Given the description of an element on the screen output the (x, y) to click on. 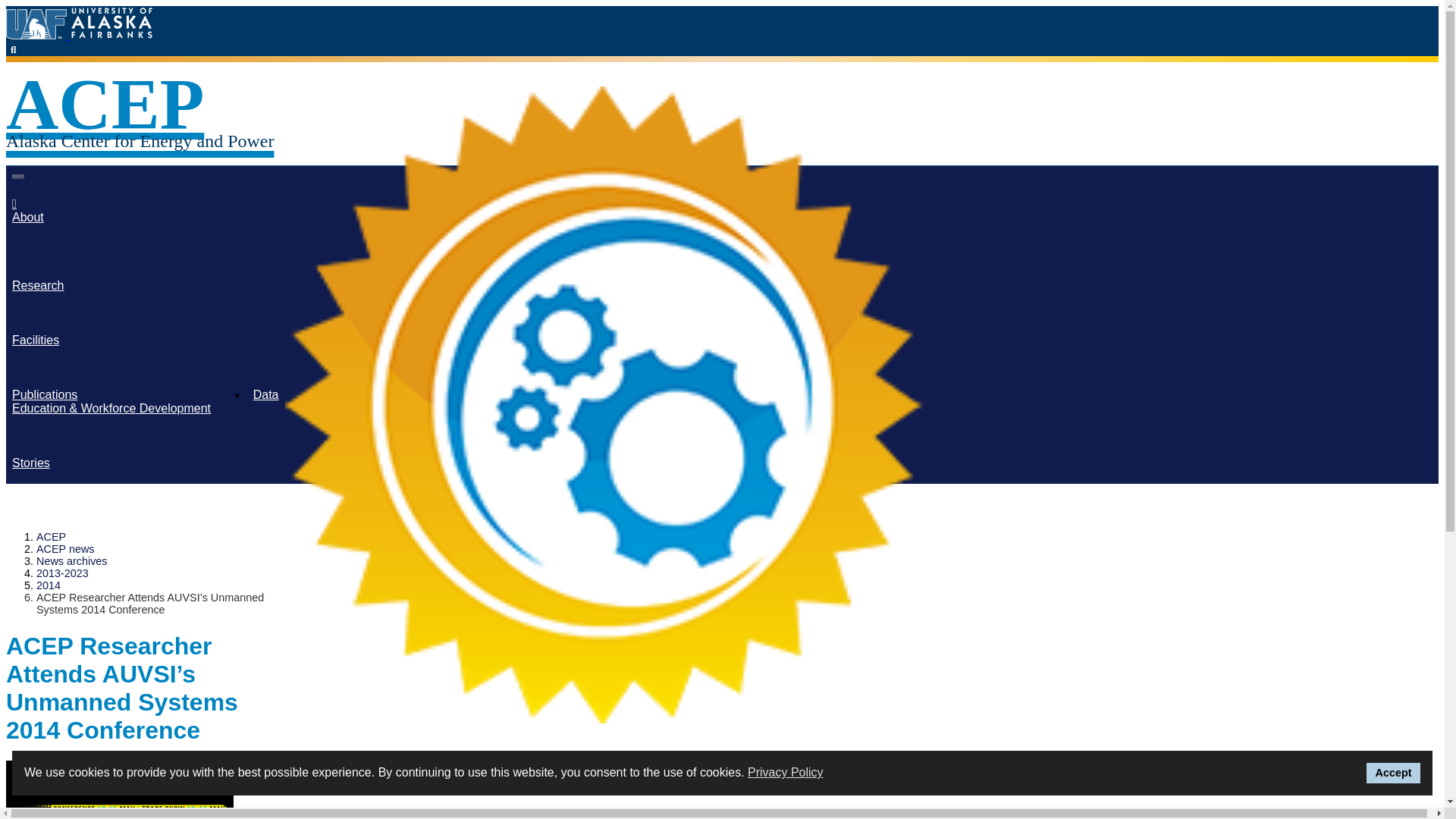
About (27, 218)
Stories (30, 464)
Accept (1394, 772)
Facilities (35, 341)
Research (37, 287)
Privacy Policy (786, 772)
Publications (44, 396)
Data (266, 396)
ACEP (139, 103)
